Given the description of an element on the screen output the (x, y) to click on. 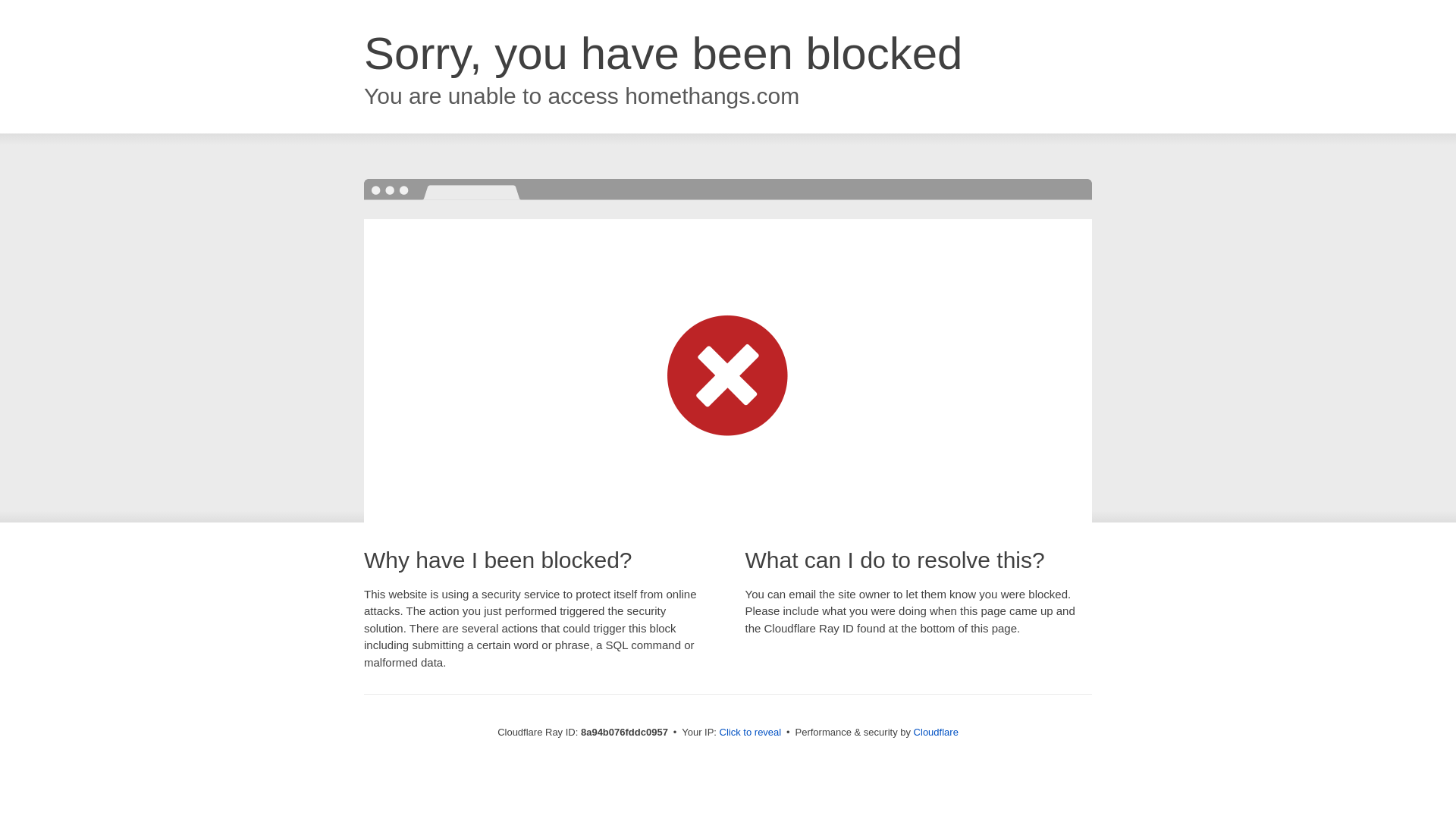
Click to reveal (750, 732)
Cloudflare (936, 731)
